Given the description of an element on the screen output the (x, y) to click on. 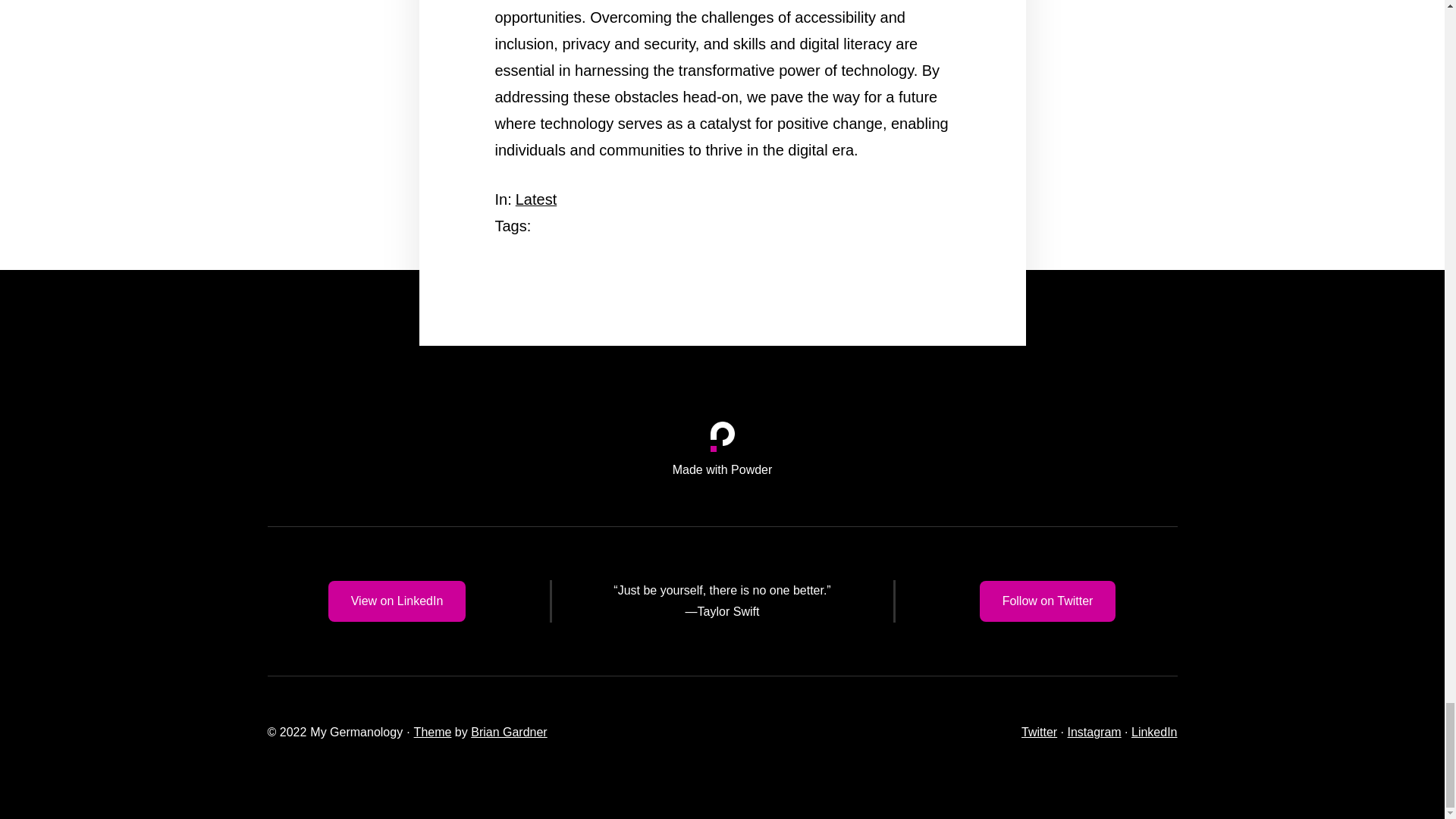
Latest (535, 199)
Twitter (1039, 731)
Instagram (1094, 731)
Follow on Twitter (1047, 600)
LinkedIn (1154, 731)
View on LinkedIn (397, 600)
Theme (432, 731)
Brian Gardner (508, 731)
